Given the description of an element on the screen output the (x, y) to click on. 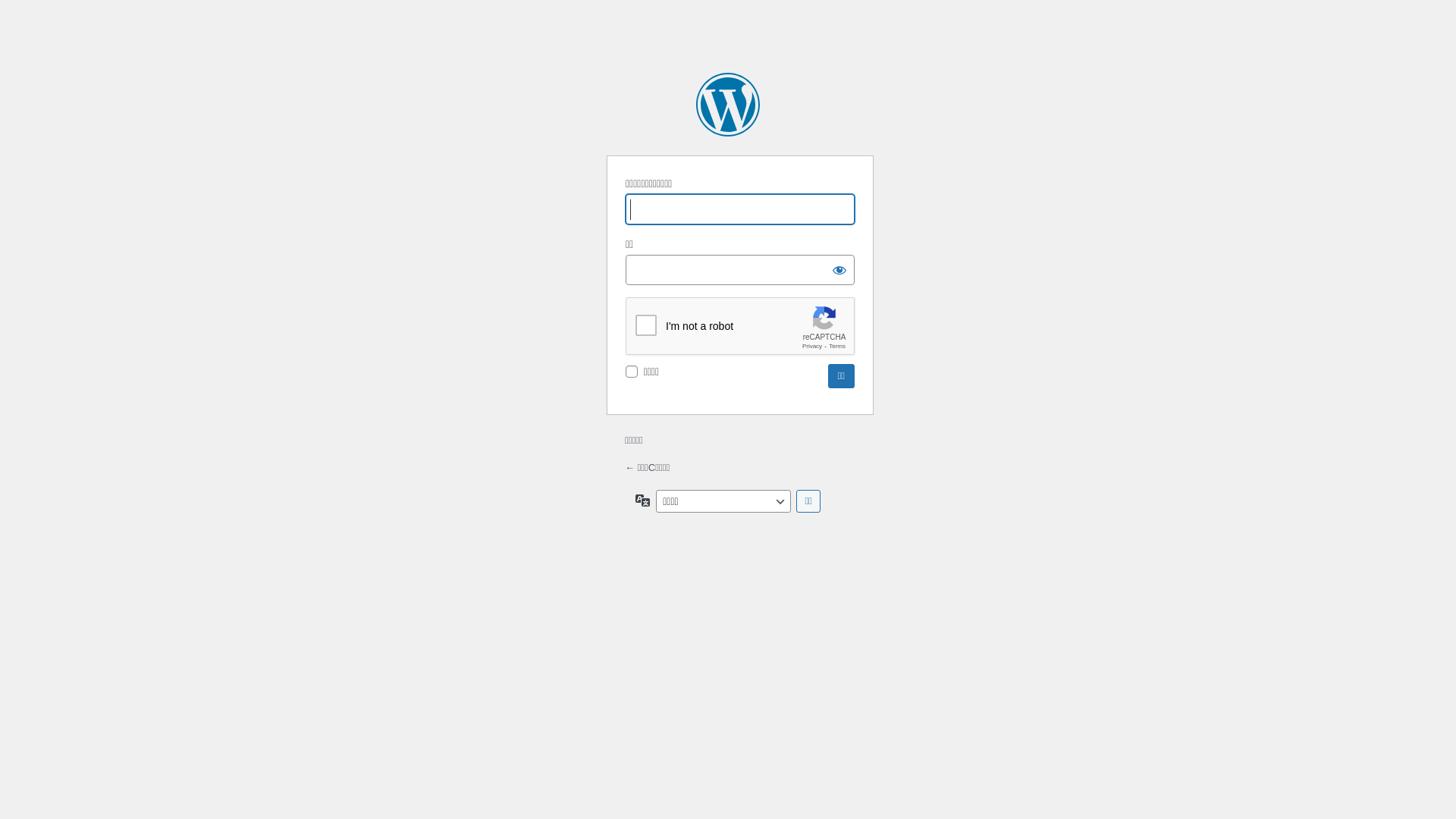
reCAPTCHA Element type: hover (740, 326)
